Given the description of an element on the screen output the (x, y) to click on. 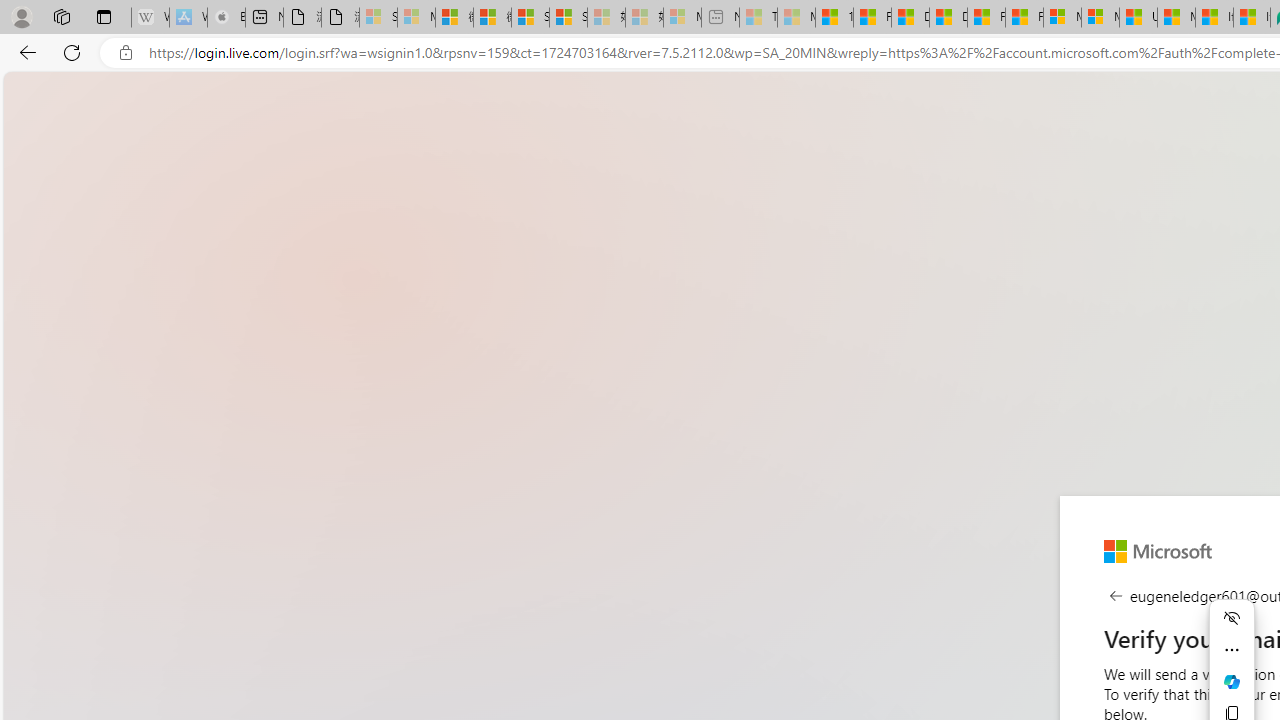
More actions (1231, 650)
